Given the description of an element on the screen output the (x, y) to click on. 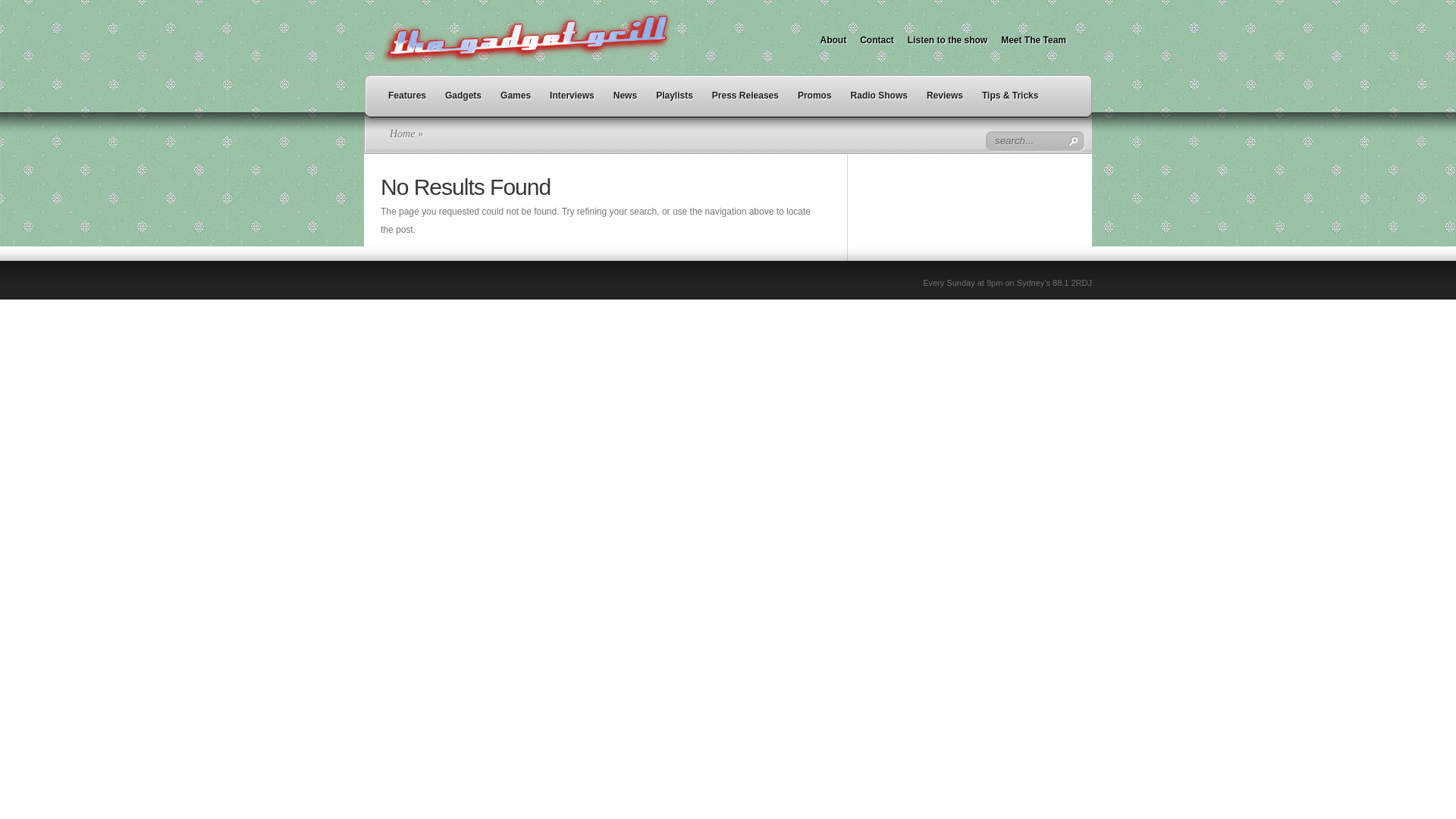
Contact Element type: text (876, 43)
Tips & Tricks Element type: text (1010, 100)
Radio Shows Element type: text (878, 100)
Press Releases Element type: text (745, 100)
Promos Element type: text (814, 100)
Meet The Team Element type: text (1033, 43)
Home Element type: text (401, 133)
Gadgets Element type: text (463, 100)
News Element type: text (625, 100)
Reviews Element type: text (944, 100)
Playlists Element type: text (674, 100)
About Element type: text (833, 43)
Features Element type: text (407, 100)
Games Element type: text (515, 100)
Interviews Element type: text (571, 100)
Listen to the show Element type: text (947, 43)
